Given the description of an element on the screen output the (x, y) to click on. 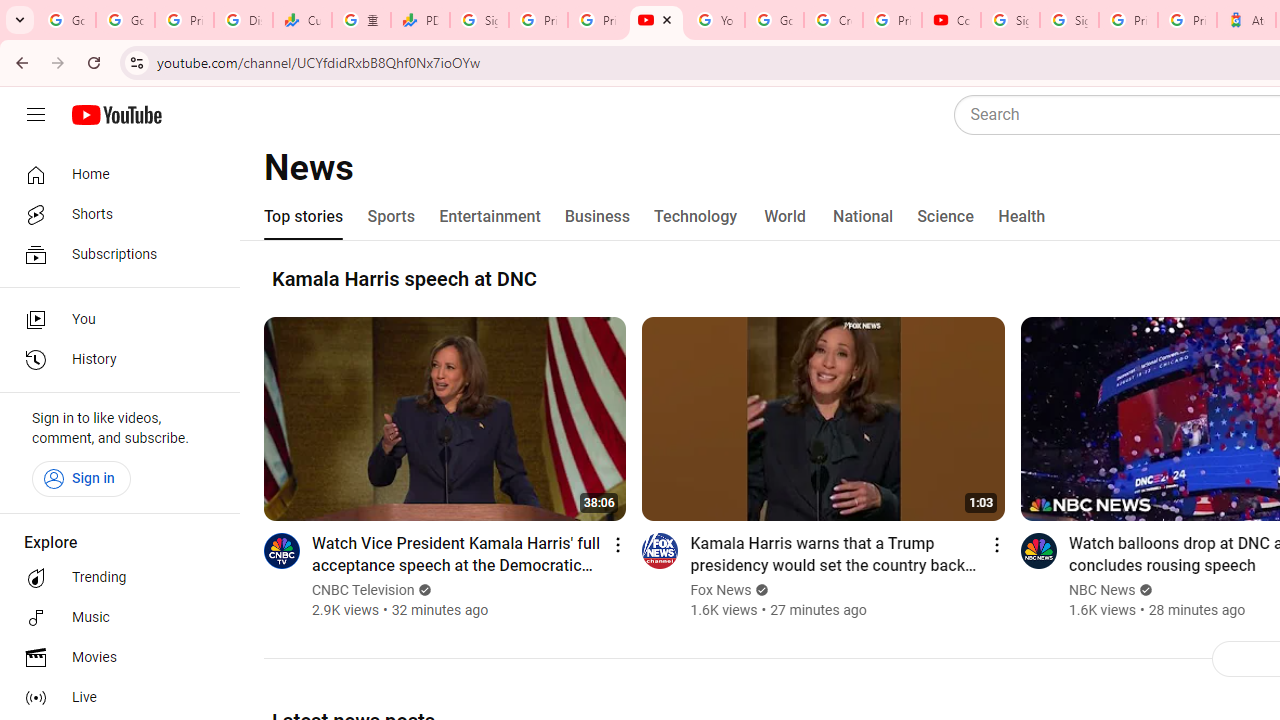
Shorts (113, 214)
Sign in - Google Accounts (1069, 20)
Sports (391, 216)
Home (113, 174)
Fox News (720, 590)
